Given the description of an element on the screen output the (x, y) to click on. 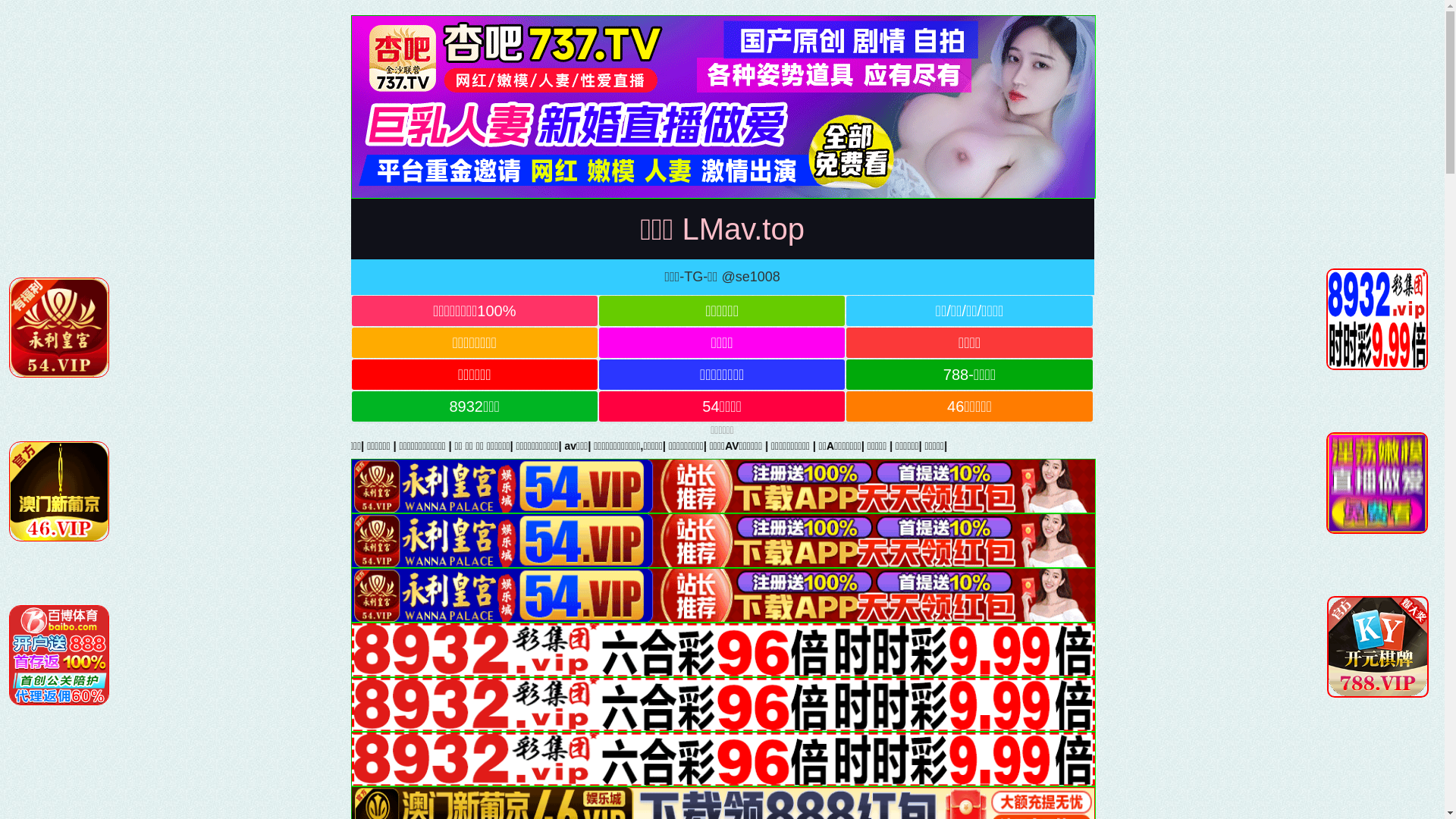
| Element type: text (1090, 445)
| Element type: text (1044, 445)
| Element type: text (259, 445)
| Element type: text (297, 445)
| Element type: text (456, 445)
| Element type: text (1190, 445)
| Element type: text (945, 445)
| Element type: text (984, 445)
| Element type: text (738, 445)
| Element type: text (99, 445)
| Element type: text (1137, 445)
| Element type: text (395, 445)
| Element type: text (503, 445)
| Element type: text (1163, 445)
| Element type: text (844, 445)
| Element type: text (654, 445)
| Element type: text (1214, 445)
| Element type: text (587, 445)
| Element type: text (798, 445)
| Element type: text (622, 445)
| Element type: text (685, 445)
| Element type: text (145, 445)
| Element type: text (336, 445)
| Element type: text (872, 445)
| Element type: text (48, 445)
| Element type: text (198, 445)
| Element type: text (550, 445)
